Given the description of an element on the screen output the (x, y) to click on. 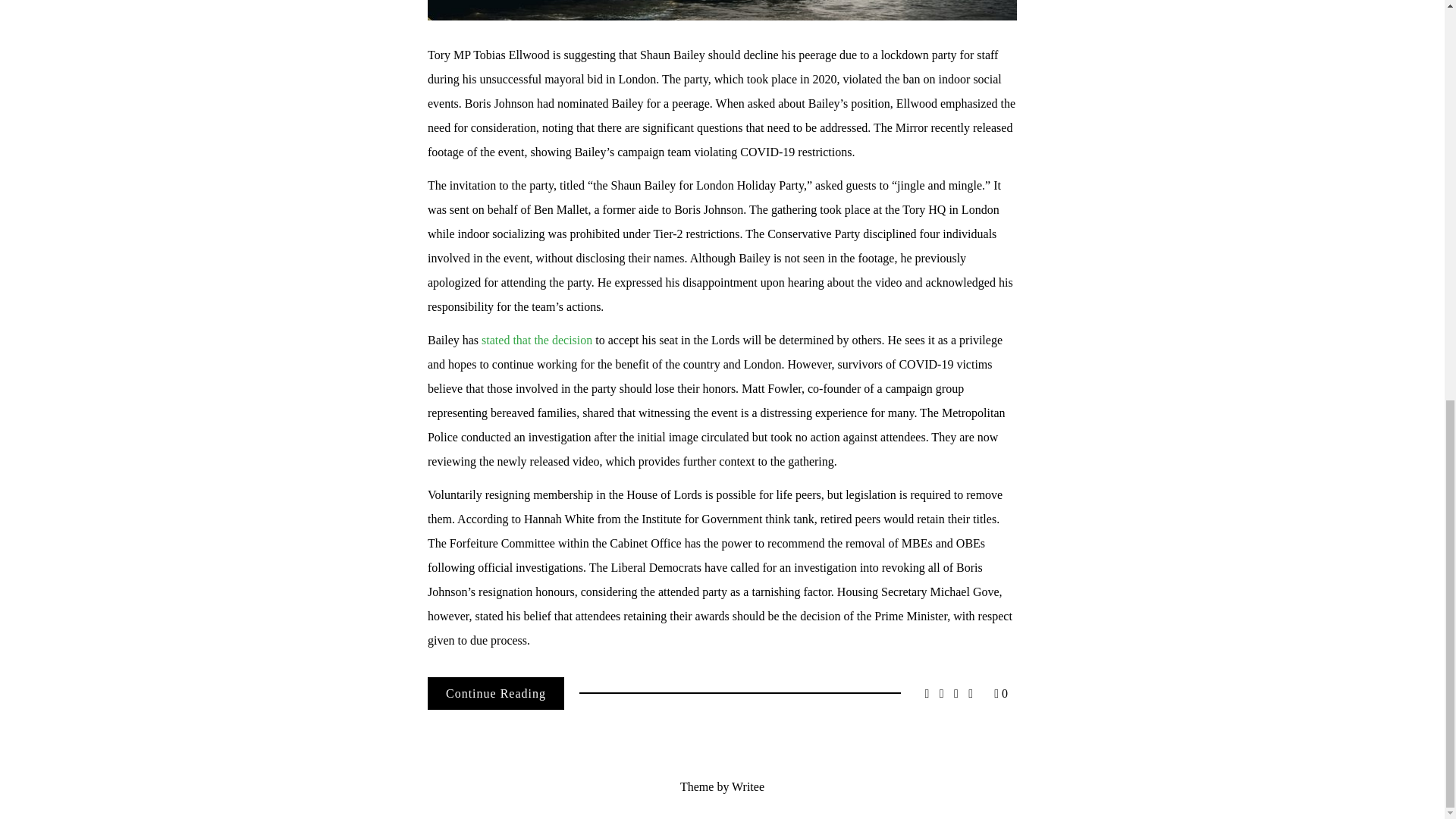
stated that the decision (536, 339)
0 (1000, 693)
Continue Reading (496, 693)
